Given the description of an element on the screen output the (x, y) to click on. 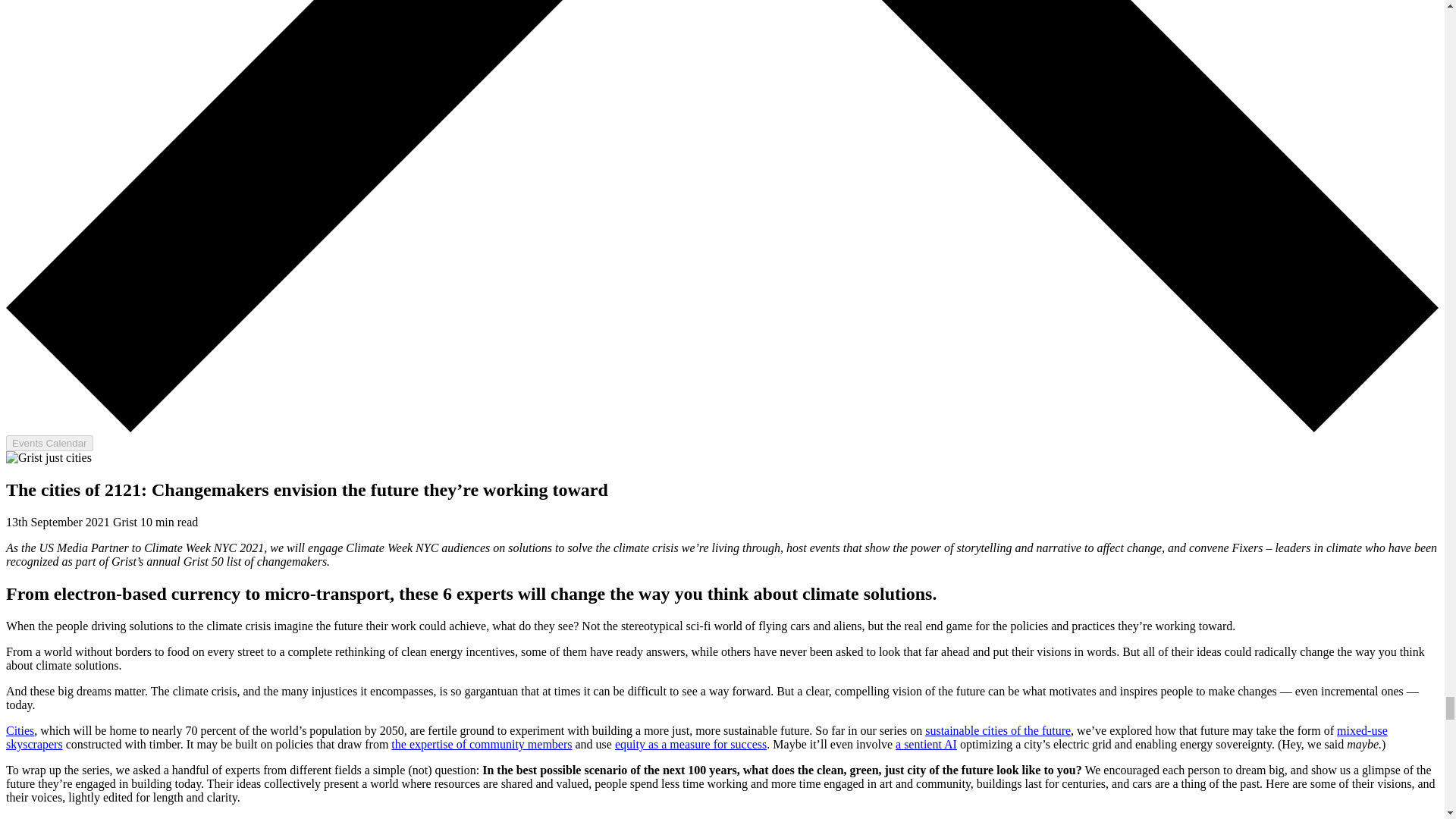
sustainable cities of the future (997, 730)
mixed-use skyscrapers (696, 737)
a sentient AI (925, 744)
equity as a measure for success (690, 744)
Events Calendar (49, 442)
Cities (19, 730)
the expertise of community members (481, 744)
Events Calendar (49, 441)
